Given the description of an element on the screen output the (x, y) to click on. 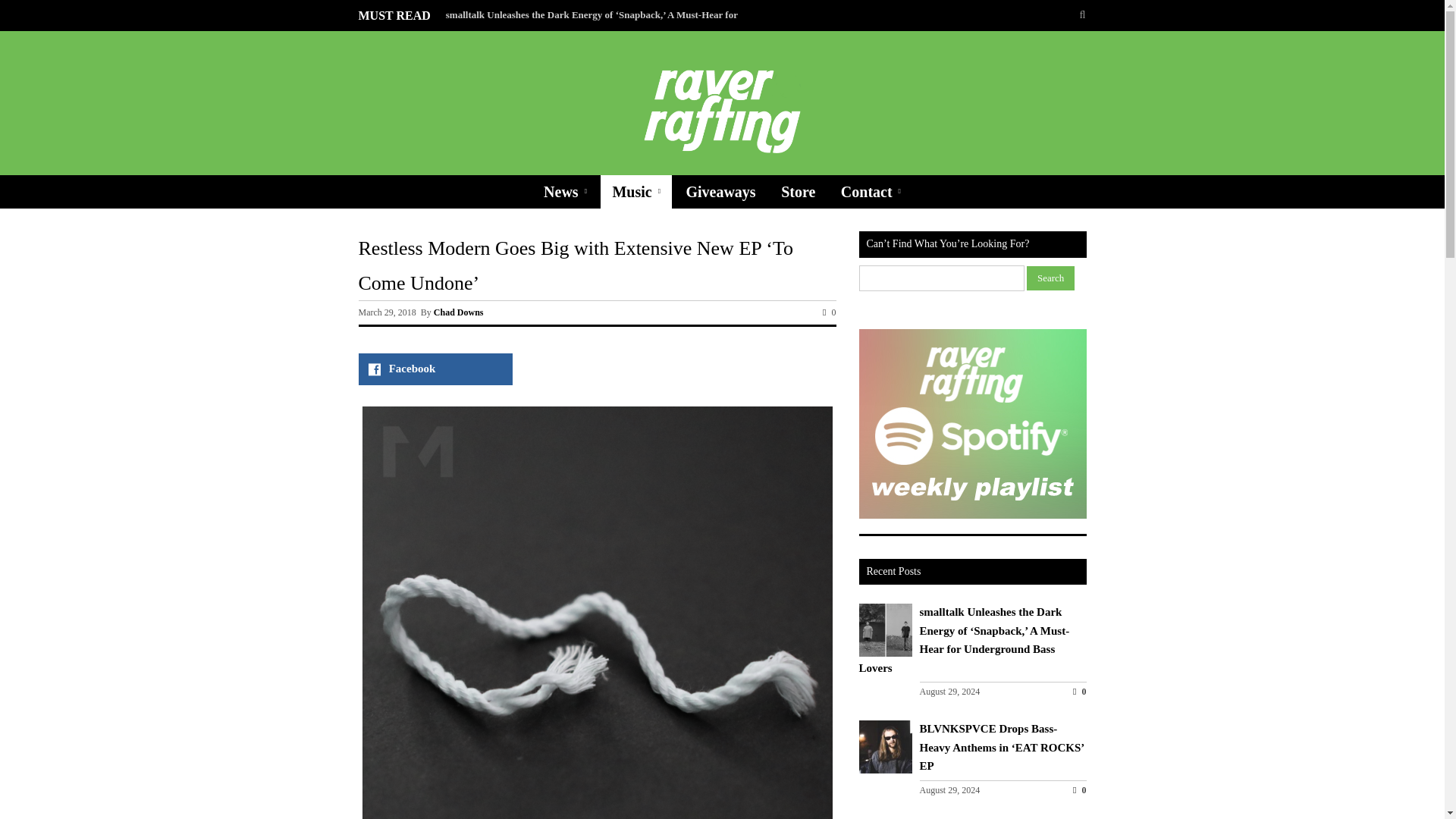
Search (1050, 278)
News (565, 191)
Search... (1031, 15)
